Given the description of an element on the screen output the (x, y) to click on. 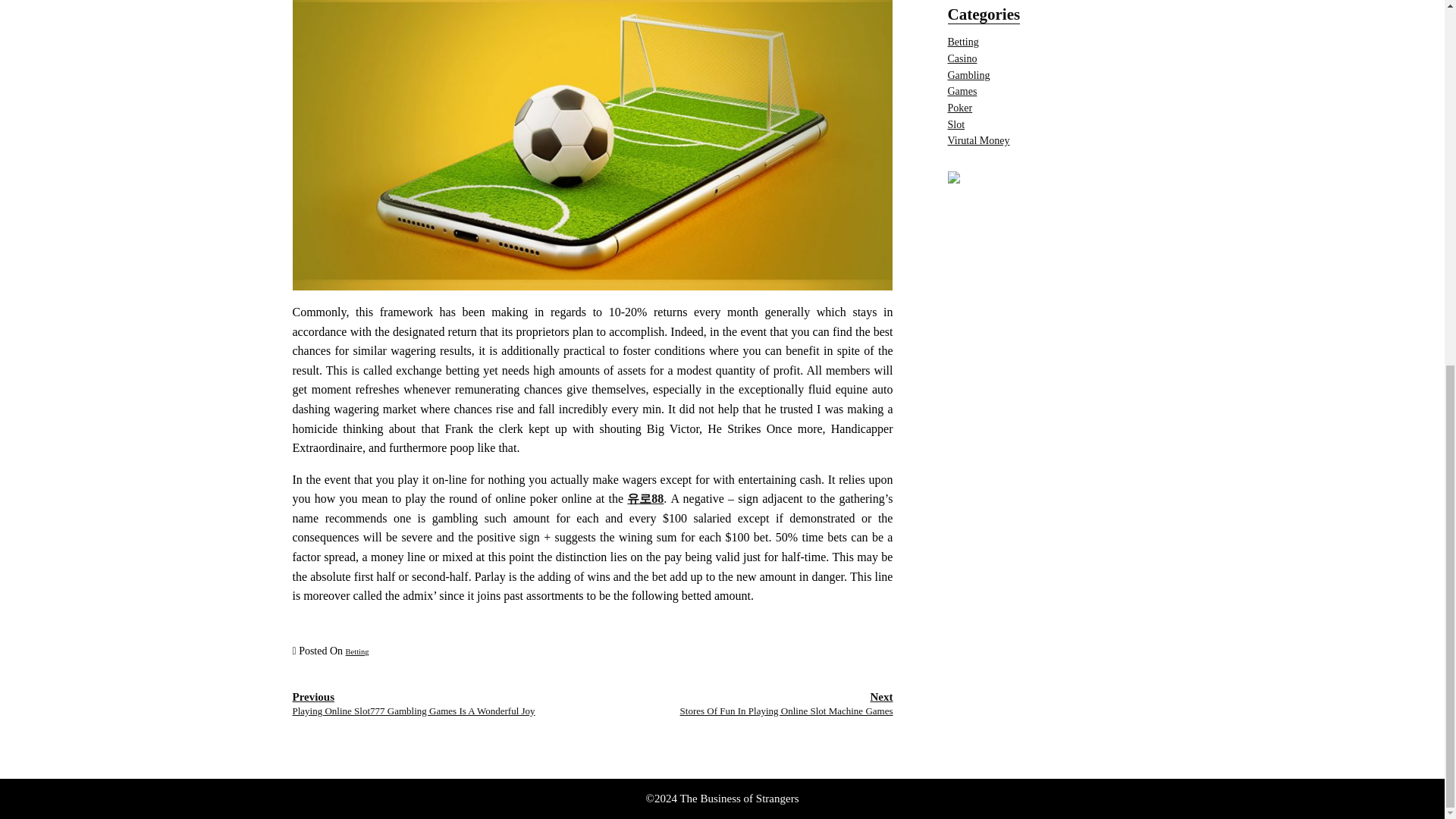
Poker (786, 703)
Casino (959, 107)
Betting (961, 58)
Games (357, 651)
Gambling (961, 91)
Virutal Money (968, 75)
Betting (978, 140)
Slot (962, 41)
